Given the description of an element on the screen output the (x, y) to click on. 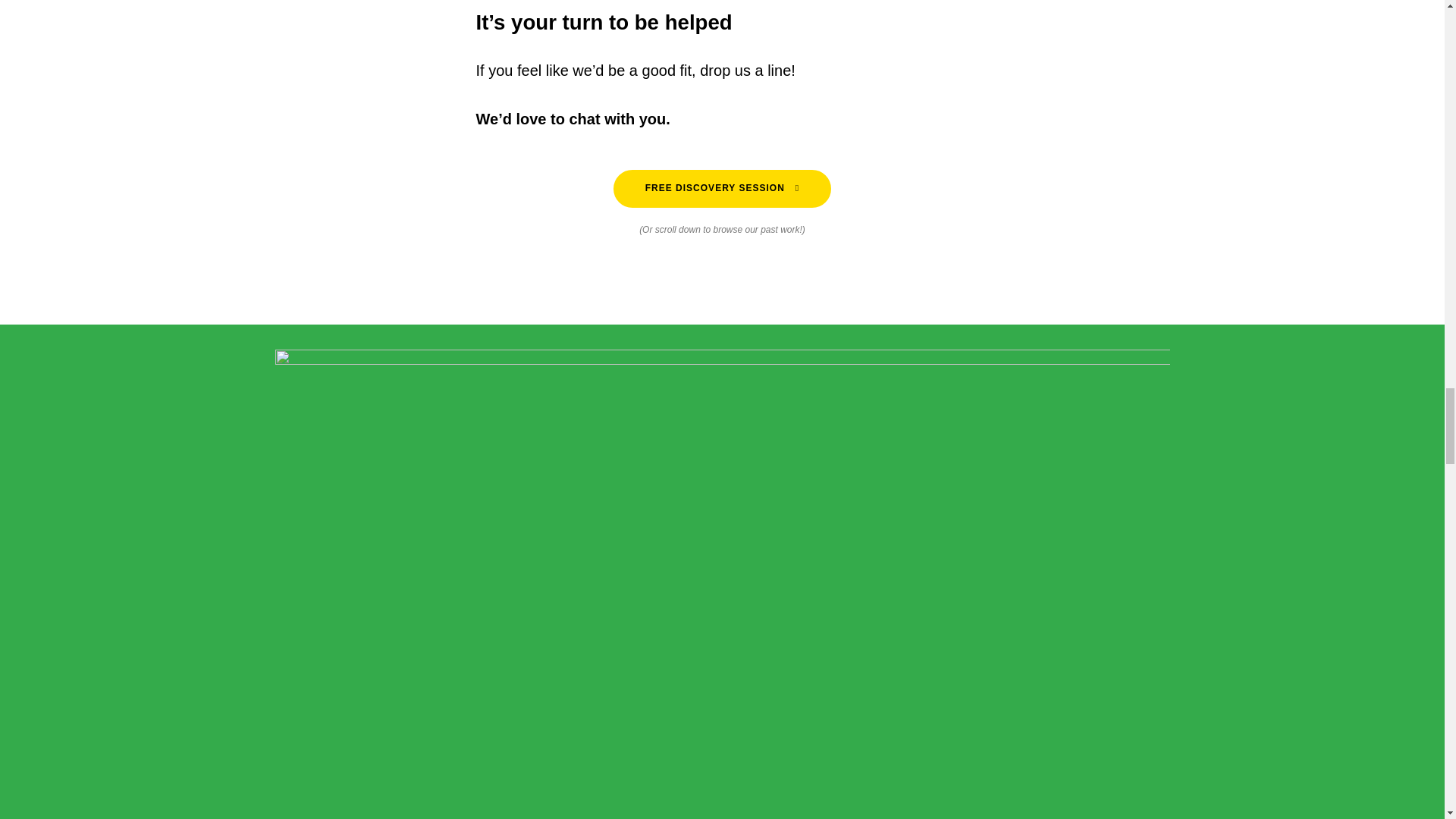
FREE DISCOVERY SESSION (721, 188)
